Given the description of an element on the screen output the (x, y) to click on. 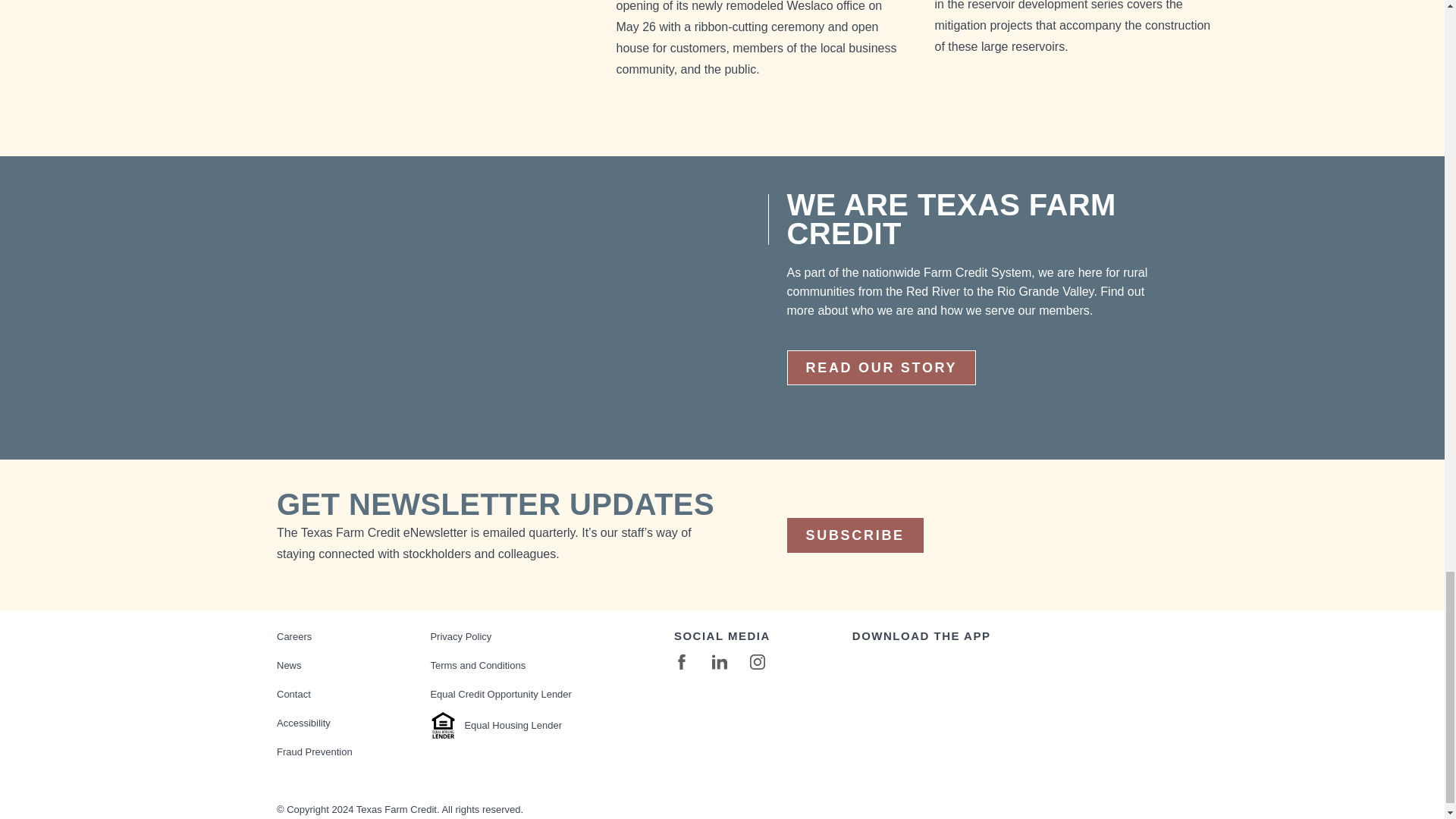
Visit us on facebook (681, 665)
Visit us on linkedin (718, 665)
Visit us on instagram (757, 665)
